Given the description of an element on the screen output the (x, y) to click on. 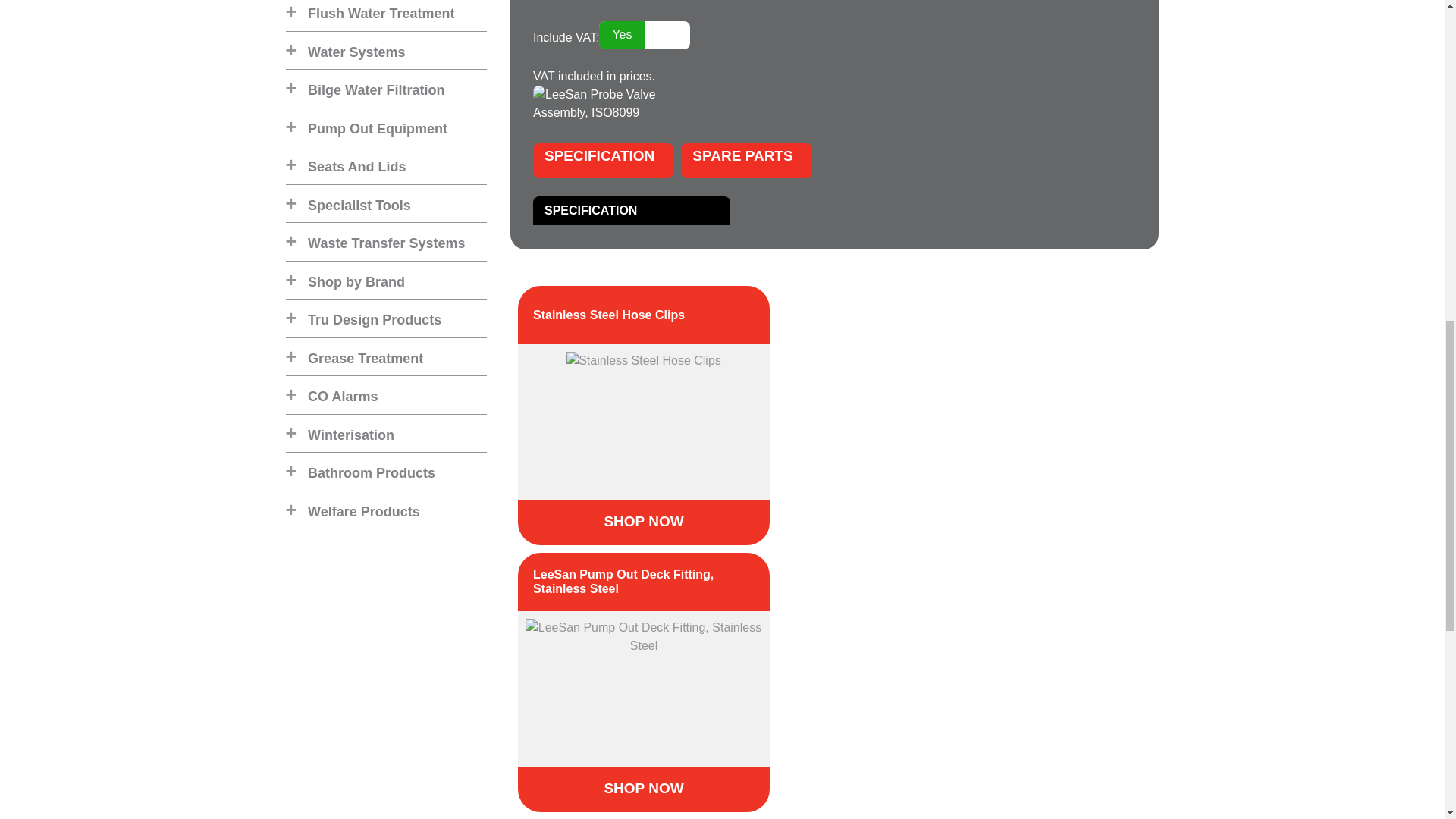
LeeSan Probe Valve Assembly, ISO8099 (599, 102)
LeeSan Probe Valve Assembly, ISO8099 (599, 103)
LeeSan Pump Out Deck Fitting, Stainless Steel (644, 636)
Stainless Steel Hose Clips (644, 360)
